Given the description of an element on the screen output the (x, y) to click on. 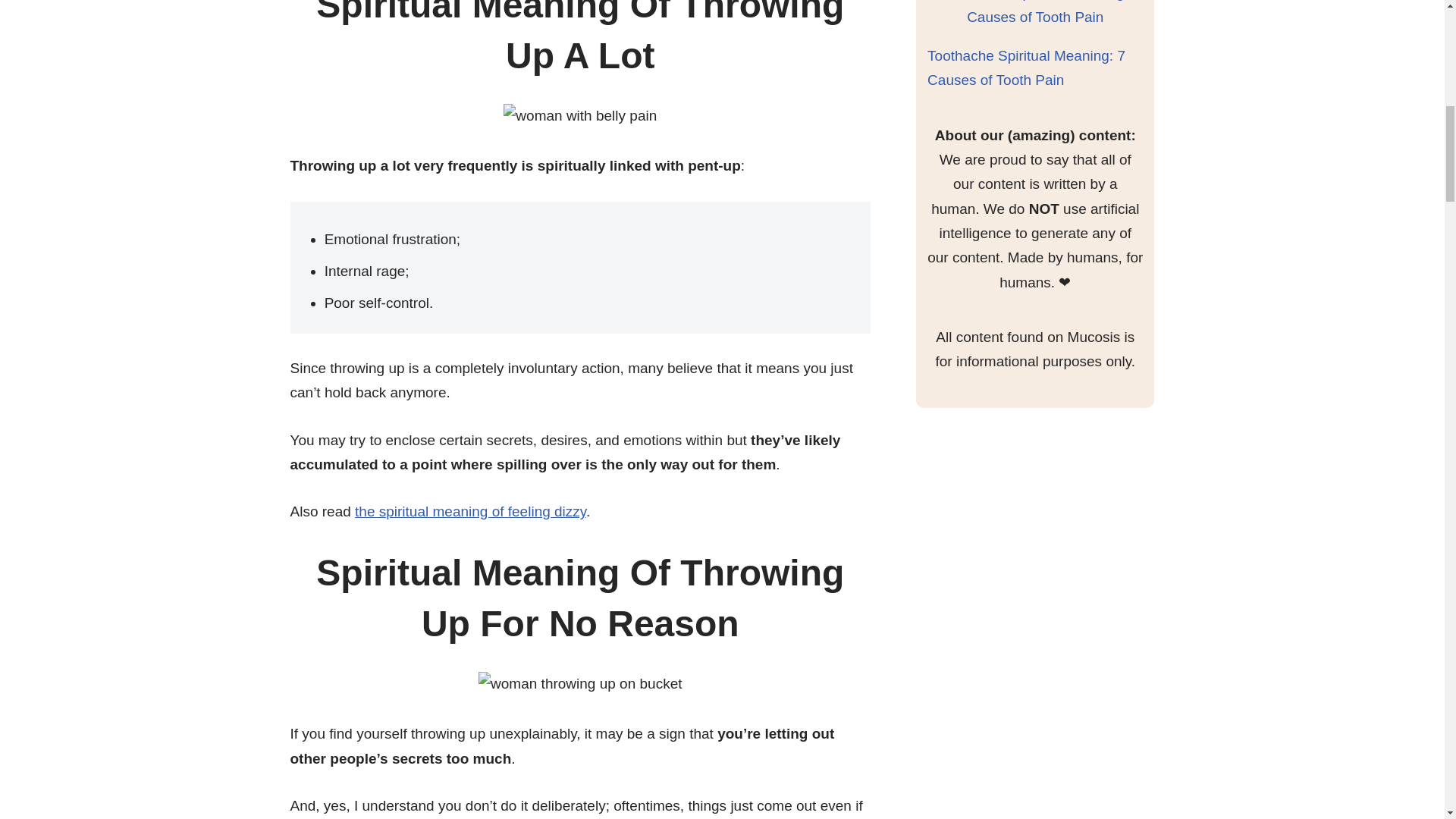
the spiritual meaning of feeling dizzy (470, 511)
